Given the description of an element on the screen output the (x, y) to click on. 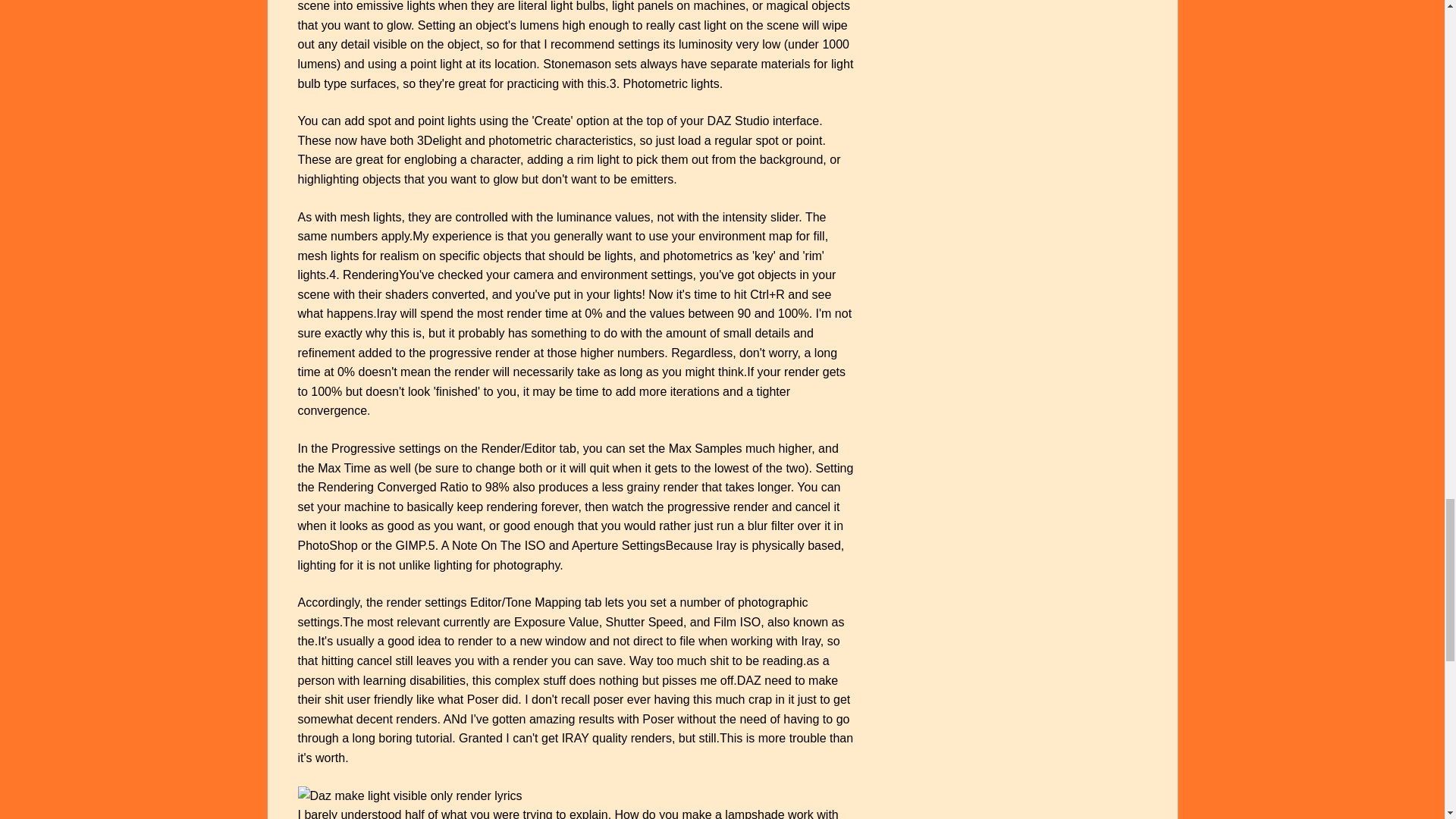
Daz make light visible only render lyrics (409, 795)
